Given the description of an element on the screen output the (x, y) to click on. 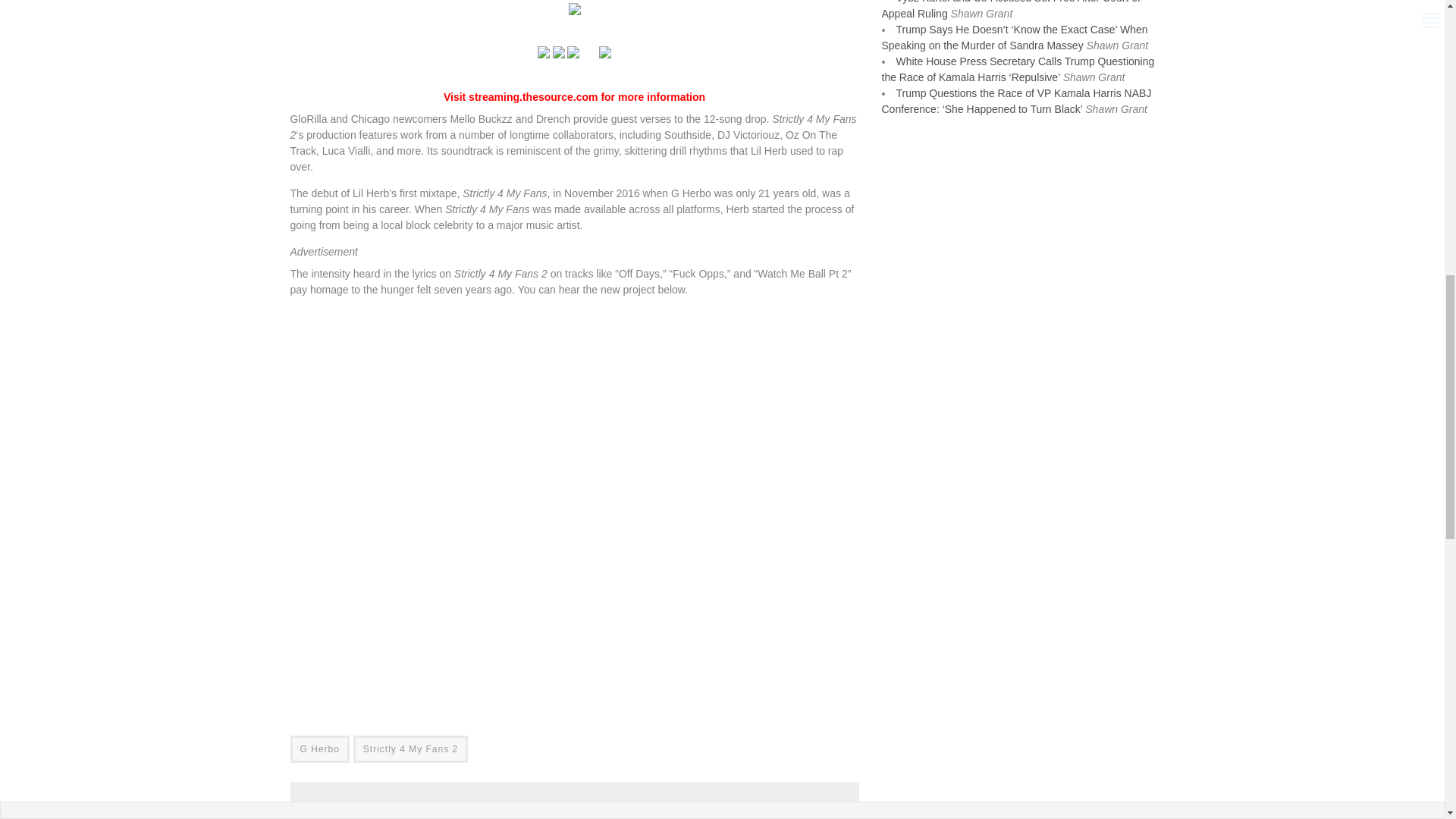
Visit streaming.thesource.com for more information (574, 96)
G Herbo (319, 748)
Tweet (639, 814)
Strictly 4 My Fans 2 (410, 748)
